Given the description of an element on the screen output the (x, y) to click on. 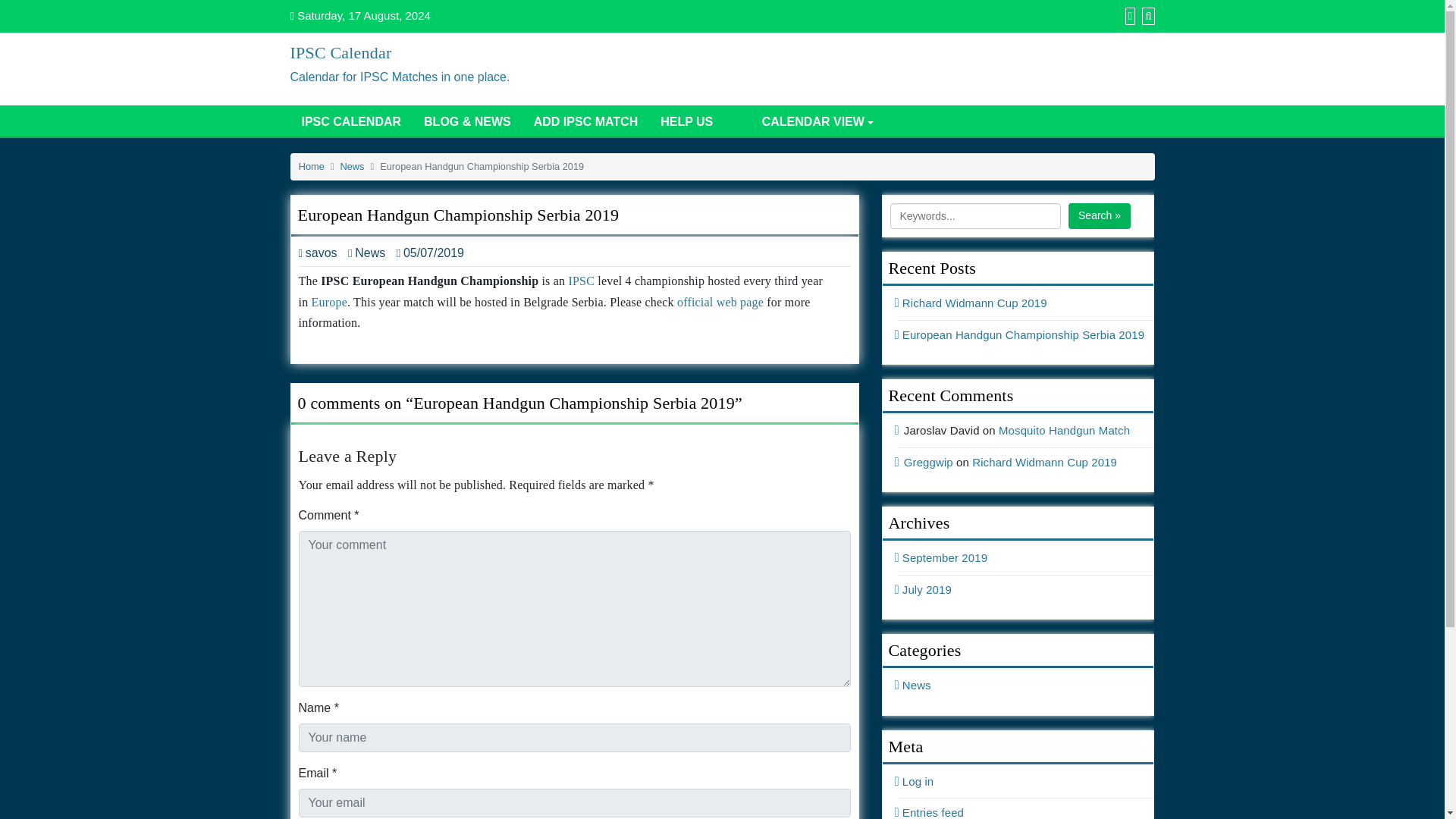
September 2019 (943, 557)
IPSC (580, 280)
official web page (719, 301)
IPSC CALENDAR (350, 120)
News (914, 684)
Richard Widmann Cup 2019 (972, 302)
Home (311, 165)
HELP US (686, 120)
July 2019 (925, 589)
Europe (329, 301)
